Given the description of an element on the screen output the (x, y) to click on. 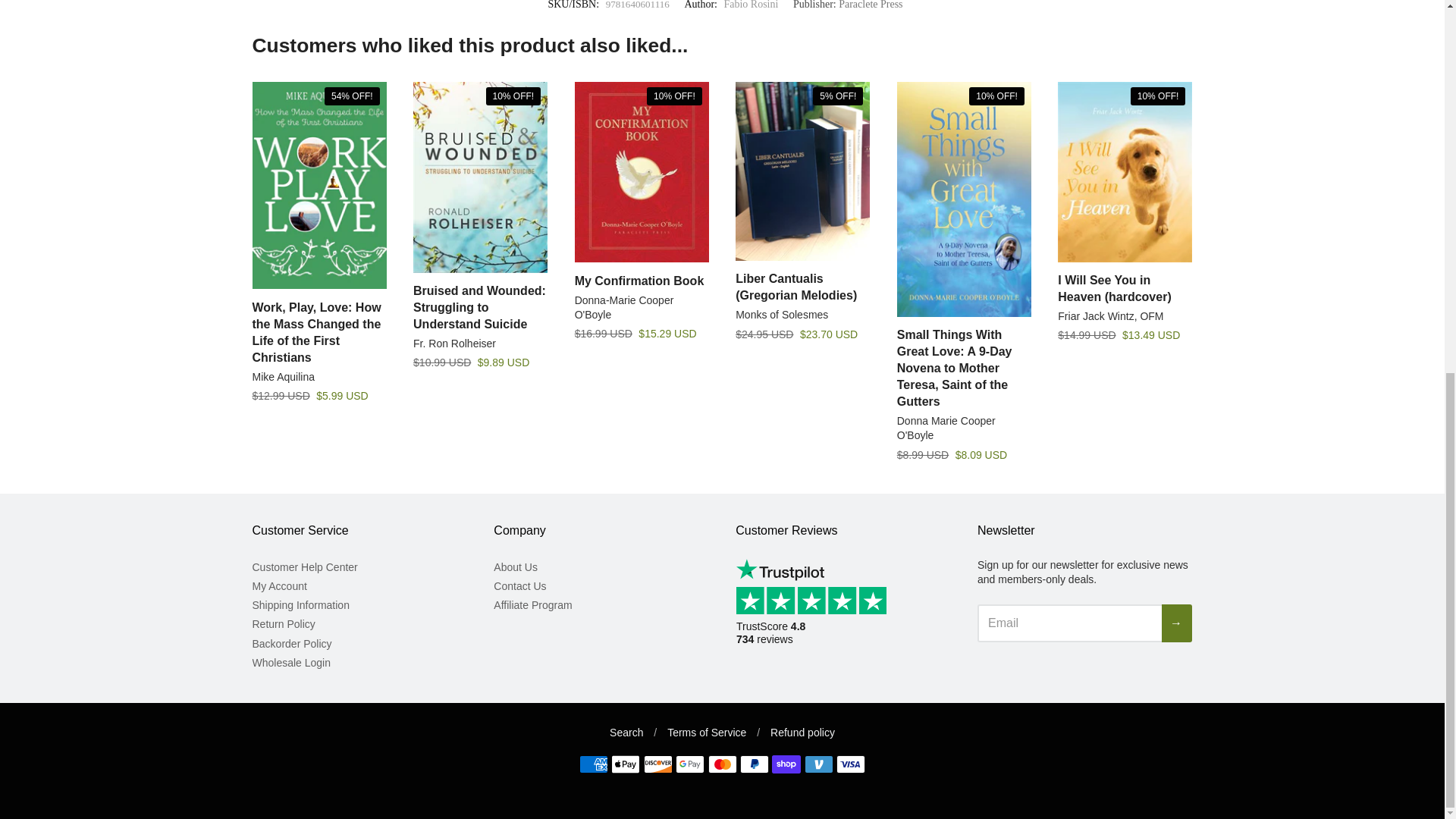
American Express (593, 764)
Shop Pay (785, 764)
PayPal (753, 764)
Paraclete Press (870, 4)
Google Pay (689, 764)
Discover (657, 764)
My Confirmation Book (639, 280)
Venmo (818, 764)
Bruised and Wounded: Struggling to Understand Suicide (479, 307)
Visa (849, 764)
Apple Pay (625, 764)
Mastercard (721, 764)
Customer reviews powered by Trustpilot (815, 614)
